Given the description of an element on the screen output the (x, y) to click on. 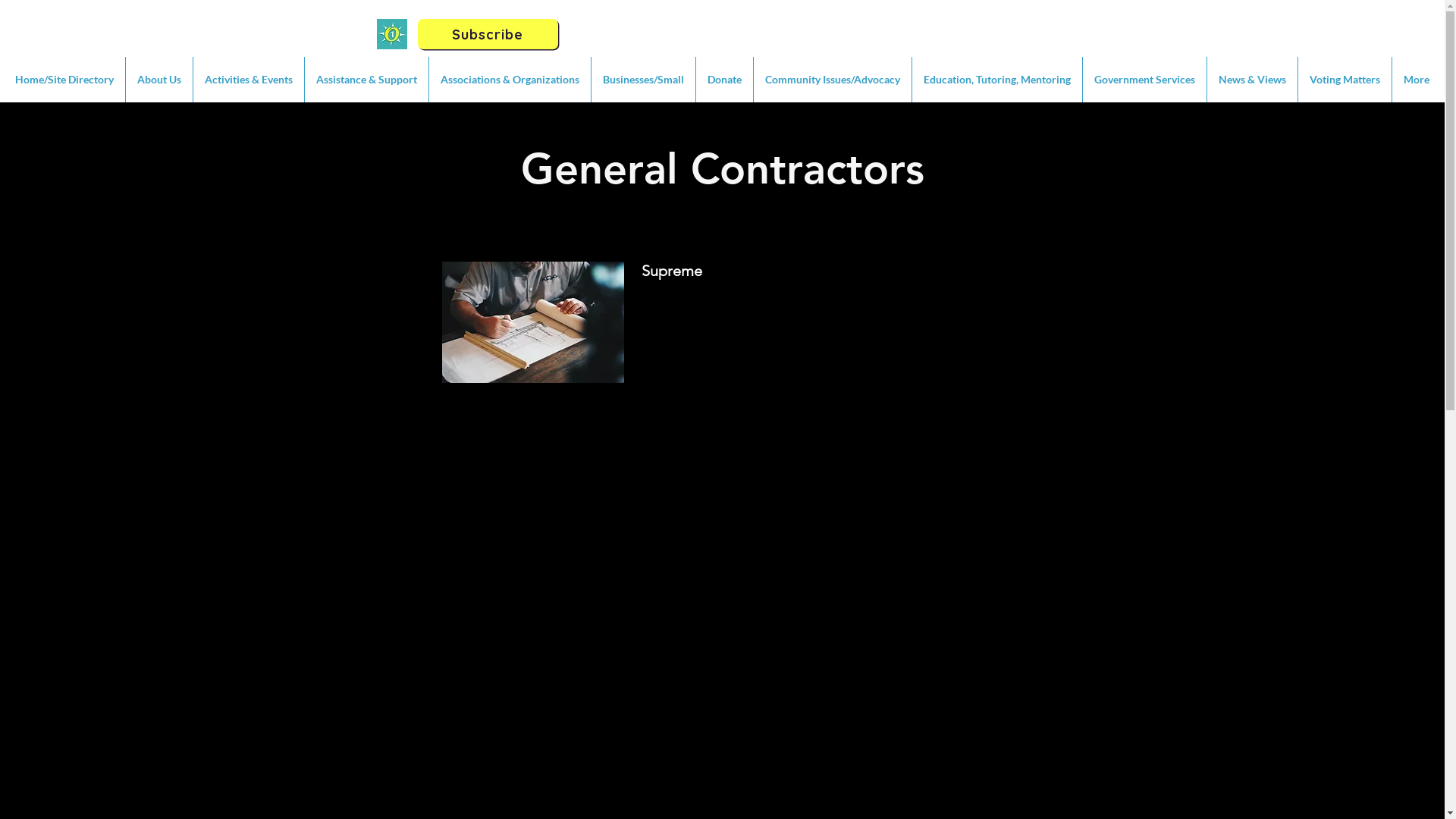
Donate Element type: text (724, 79)
Home/Site Directory Element type: text (64, 79)
Education, Tutoring, Mentoring Element type: text (997, 79)
Activities & Events Element type: text (248, 79)
About Us Element type: text (158, 79)
Community Issues/Advocacy Element type: text (832, 79)
Subscribe Element type: text (487, 33)
Assistance & Support Element type: text (366, 79)
News & Views Element type: text (1252, 79)
Associations & Organizations Element type: text (509, 79)
Government Services Element type: text (1144, 79)
Businesses/Small Element type: text (643, 79)
Voting Matters Element type: text (1344, 79)
